Given the description of an element on the screen output the (x, y) to click on. 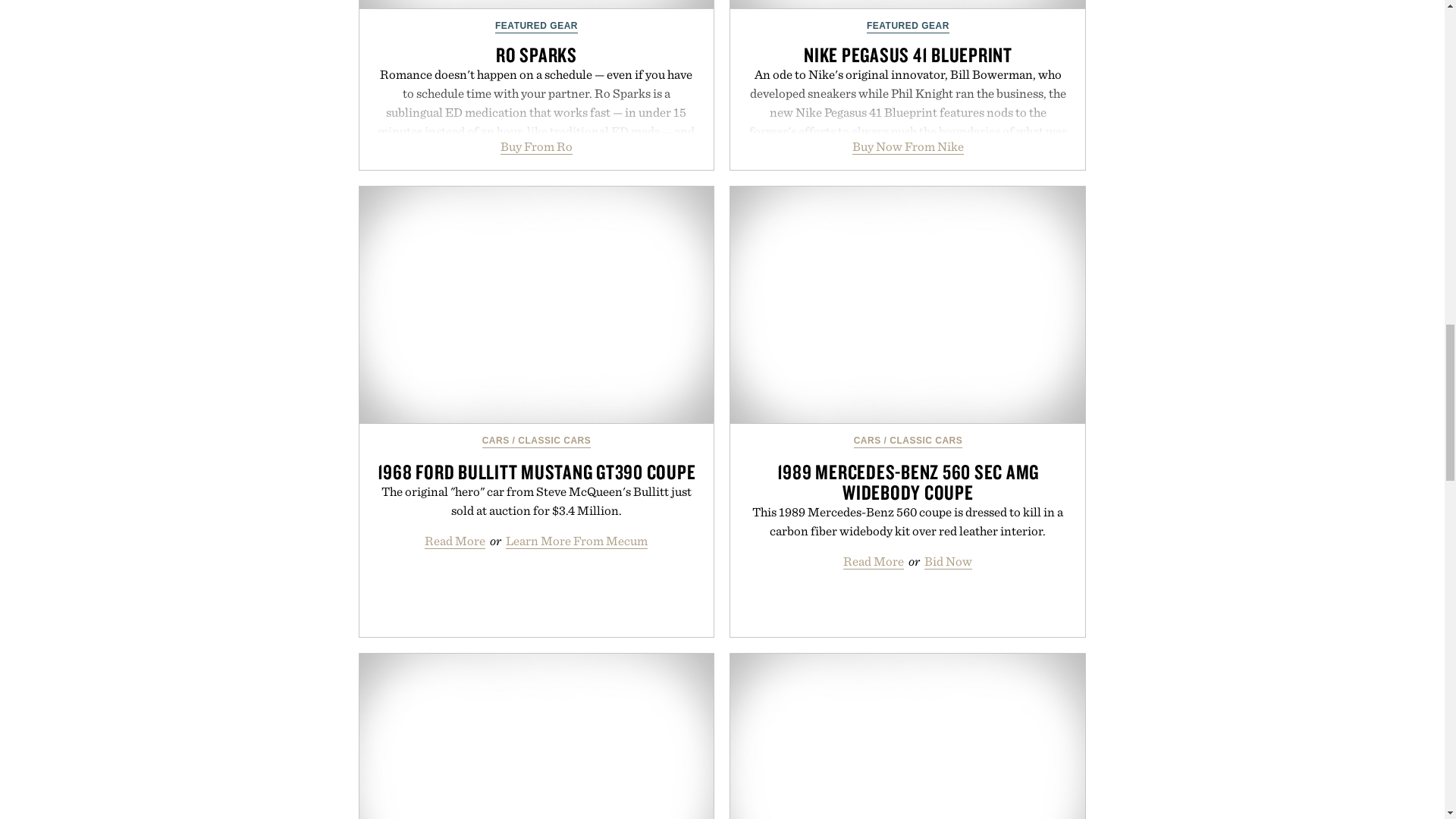
1968 Ford Bullitt Mustang GT390 Coupe (536, 305)
Ro Sparks (536, 4)
Nike Pegasus 41 Blueprint (907, 4)
1989 Mercedes-Benz 560 SEC AMG Widebody Coupe (907, 305)
Ministry of Supply Kinetic Pant (536, 736)
PetMeds (907, 736)
